Given the description of an element on the screen output the (x, y) to click on. 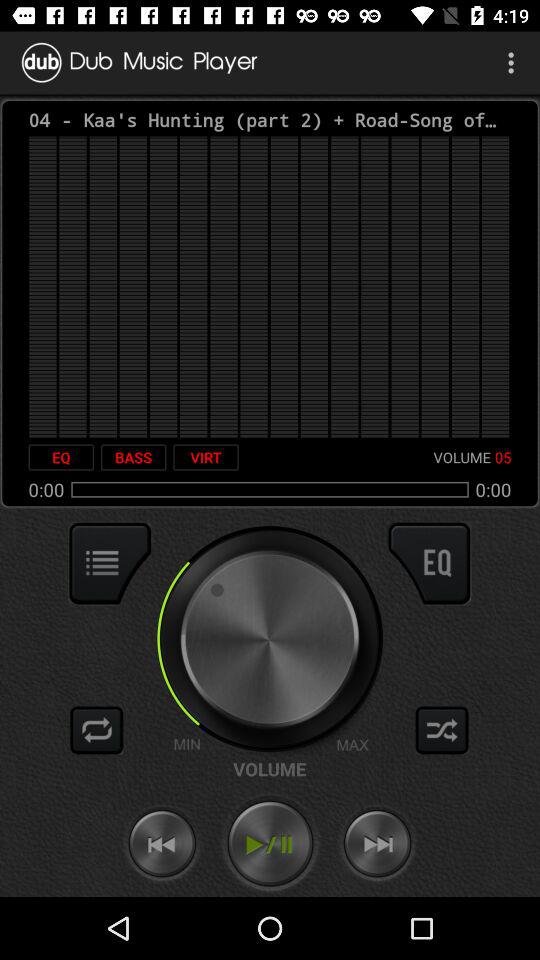
displays playlist of played songs (110, 563)
